Given the description of an element on the screen output the (x, y) to click on. 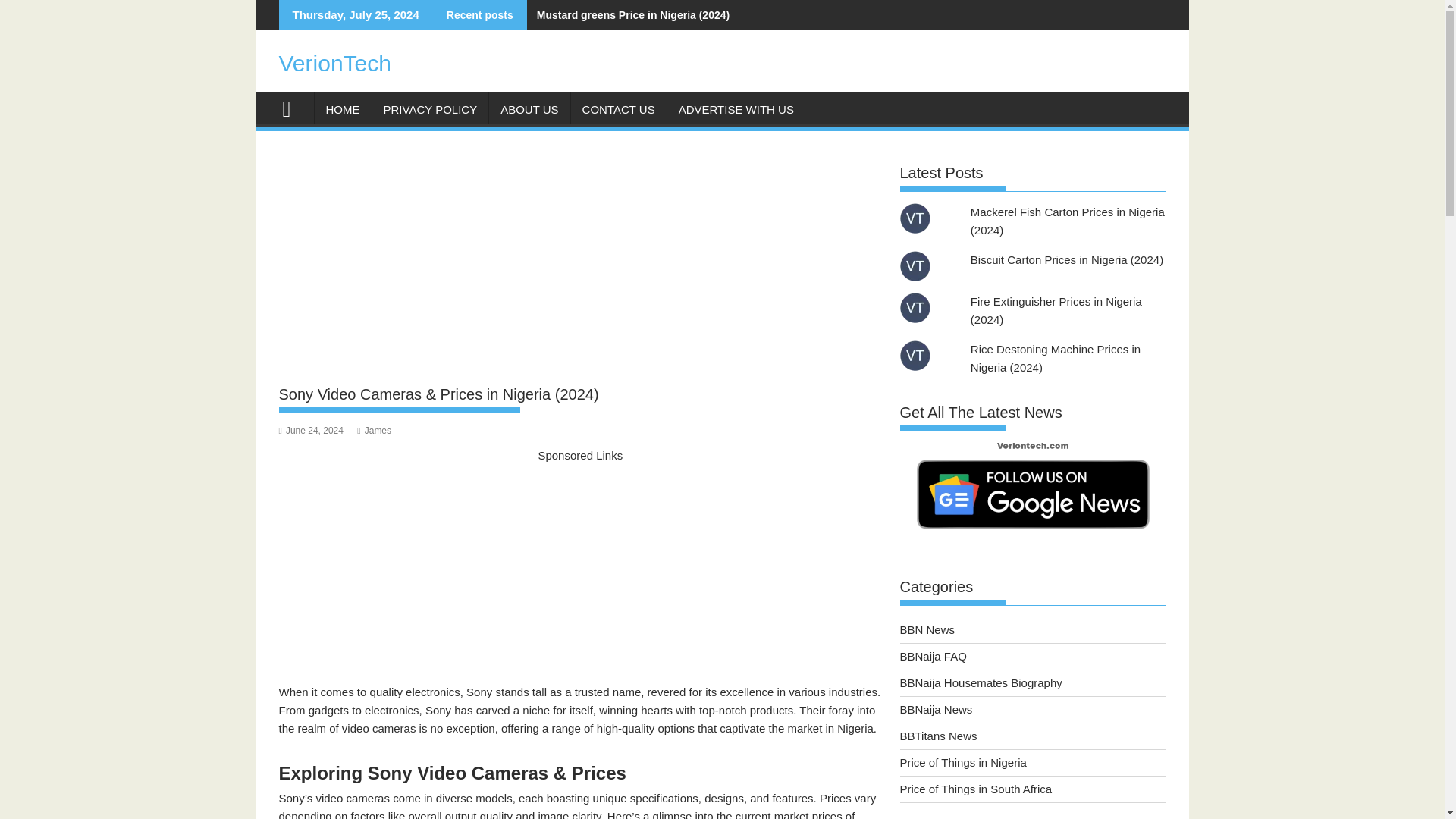
HOME (342, 109)
VerionTech (293, 106)
VerionTech (335, 63)
CONTACT US (618, 109)
Advertisement (580, 571)
ADVERTISE WITH US (735, 109)
James (373, 430)
June 24, 2024 (311, 430)
Advertisement (580, 264)
ABOUT US (529, 109)
PRIVACY POLICY (429, 109)
